Given the description of an element on the screen output the (x, y) to click on. 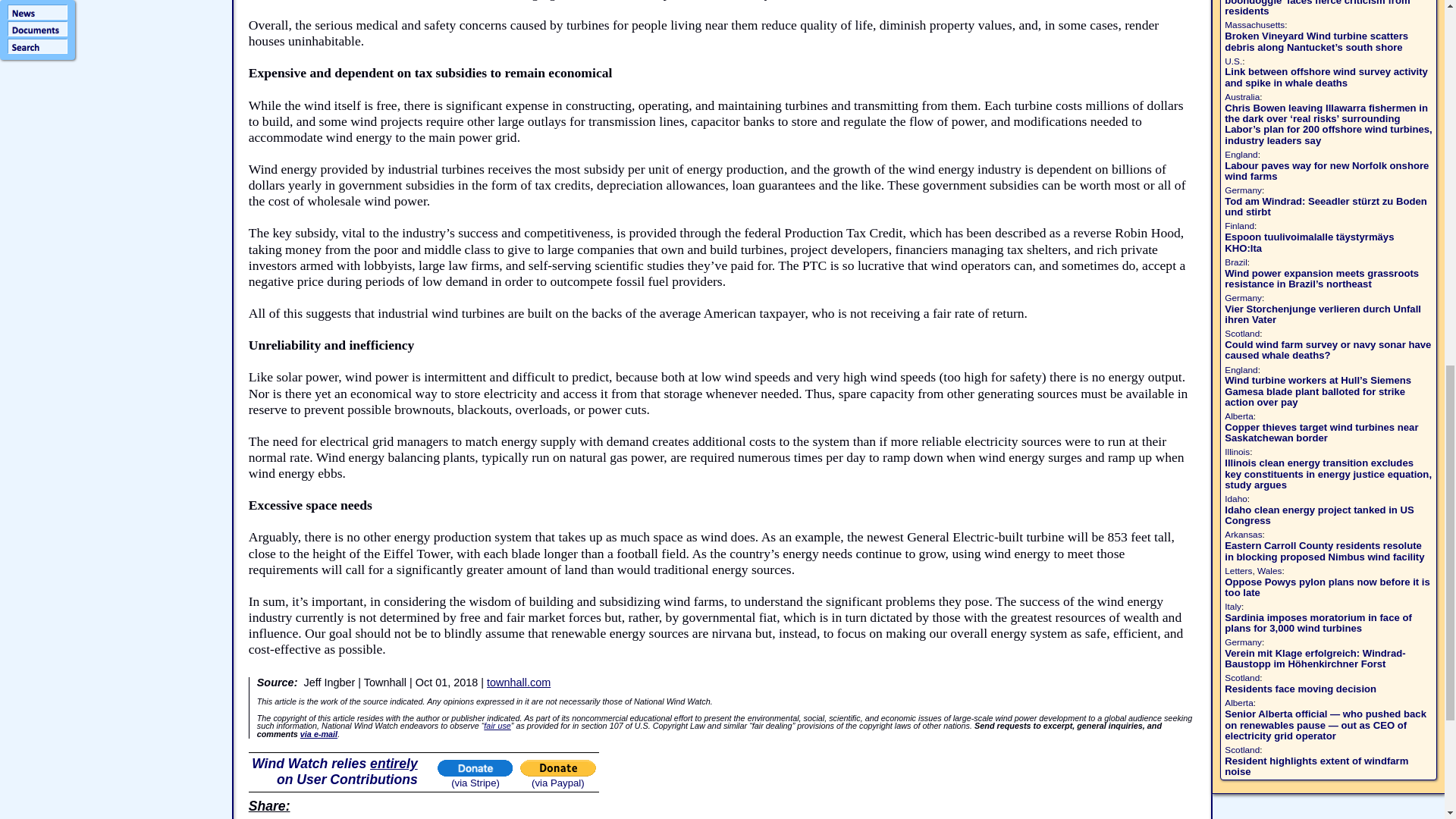
U.S. (1232, 61)
Massachusetts (1254, 24)
Australia (1241, 96)
